Given the description of an element on the screen output the (x, y) to click on. 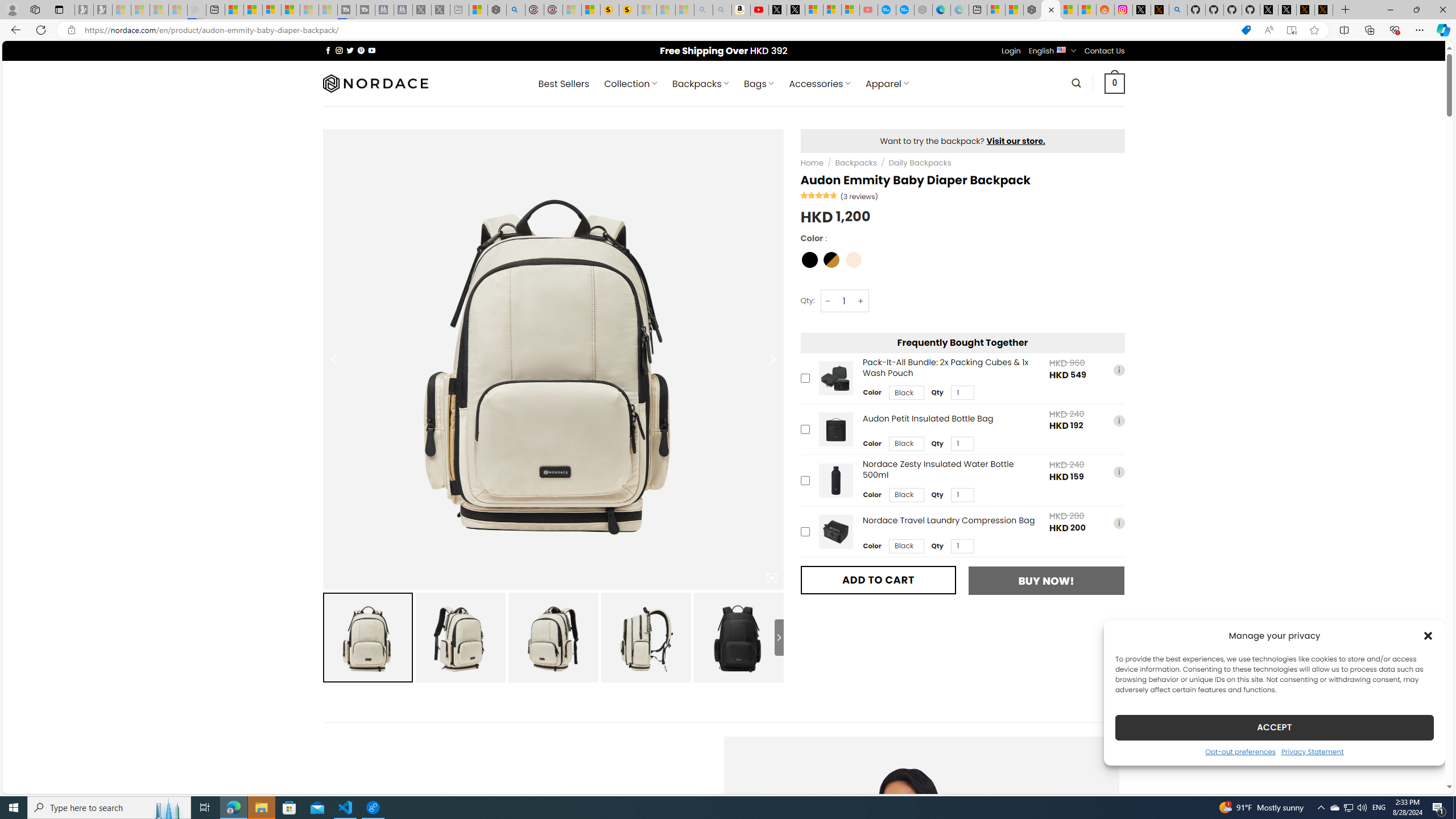
Privacy Statement (1312, 750)
Nordace Travel Laundry Compression Bag (835, 531)
amazon - Search - Sleeping (702, 9)
Log in to X / X (1142, 9)
ACCEPT (1274, 727)
Nordace - Audon Emmity Baby Diaper Backpack (1050, 9)
Enter Immersive Reader (F9) (1291, 29)
